Given the description of an element on the screen output the (x, y) to click on. 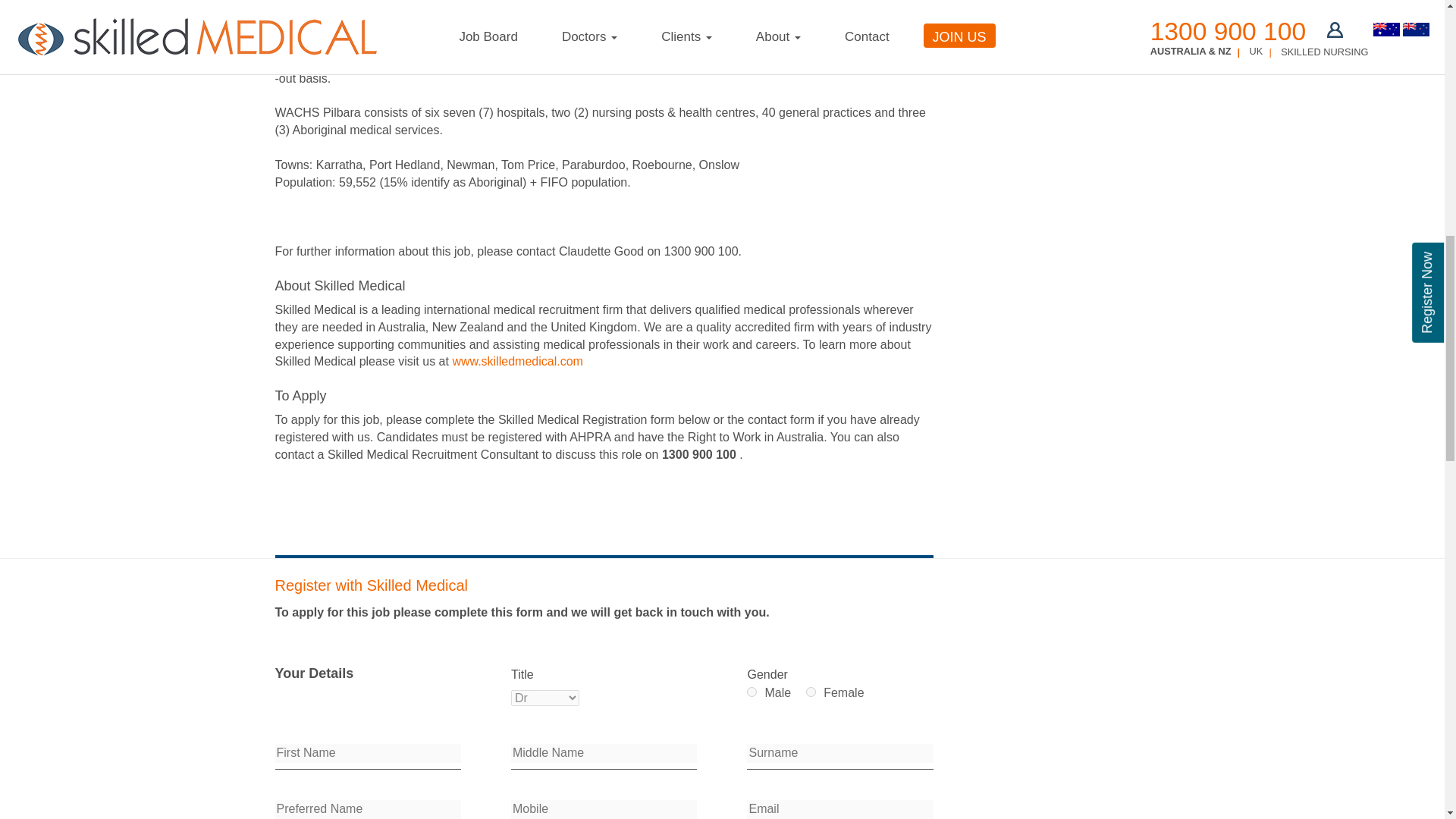
F (810, 691)
M (751, 691)
www.skilledmedical.com (517, 360)
